Given the description of an element on the screen output the (x, y) to click on. 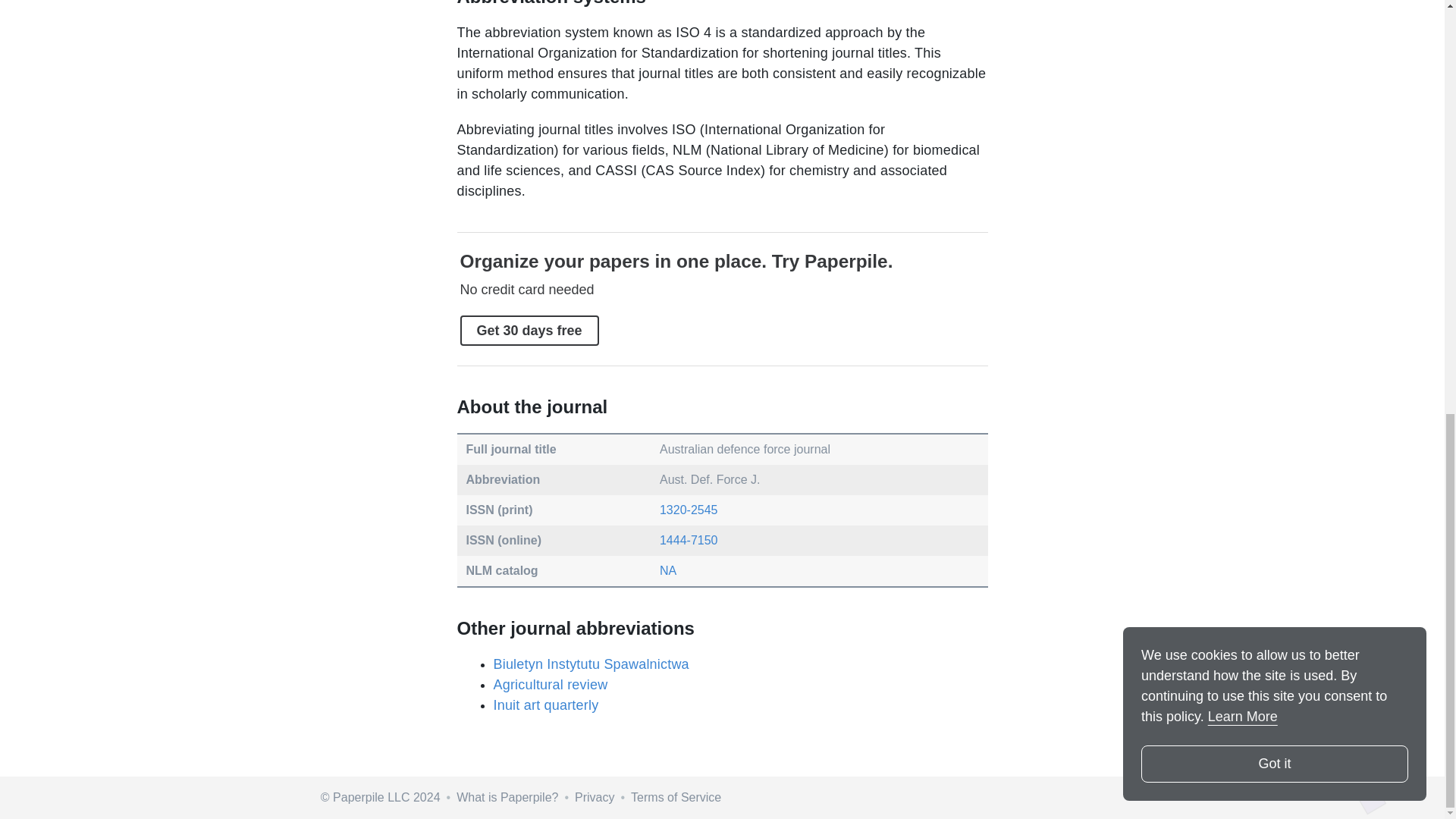
Biuletyn Instytutu Spawalnictwa (590, 663)
Inuit art quarterly (545, 704)
Get 30 days free (529, 330)
1320-2545 (688, 509)
Terms of Service (675, 797)
1444-7150 (688, 540)
NA (667, 570)
What is Paperpile? (506, 797)
Privacy (594, 797)
Agricultural review (549, 684)
